Given the description of an element on the screen output the (x, y) to click on. 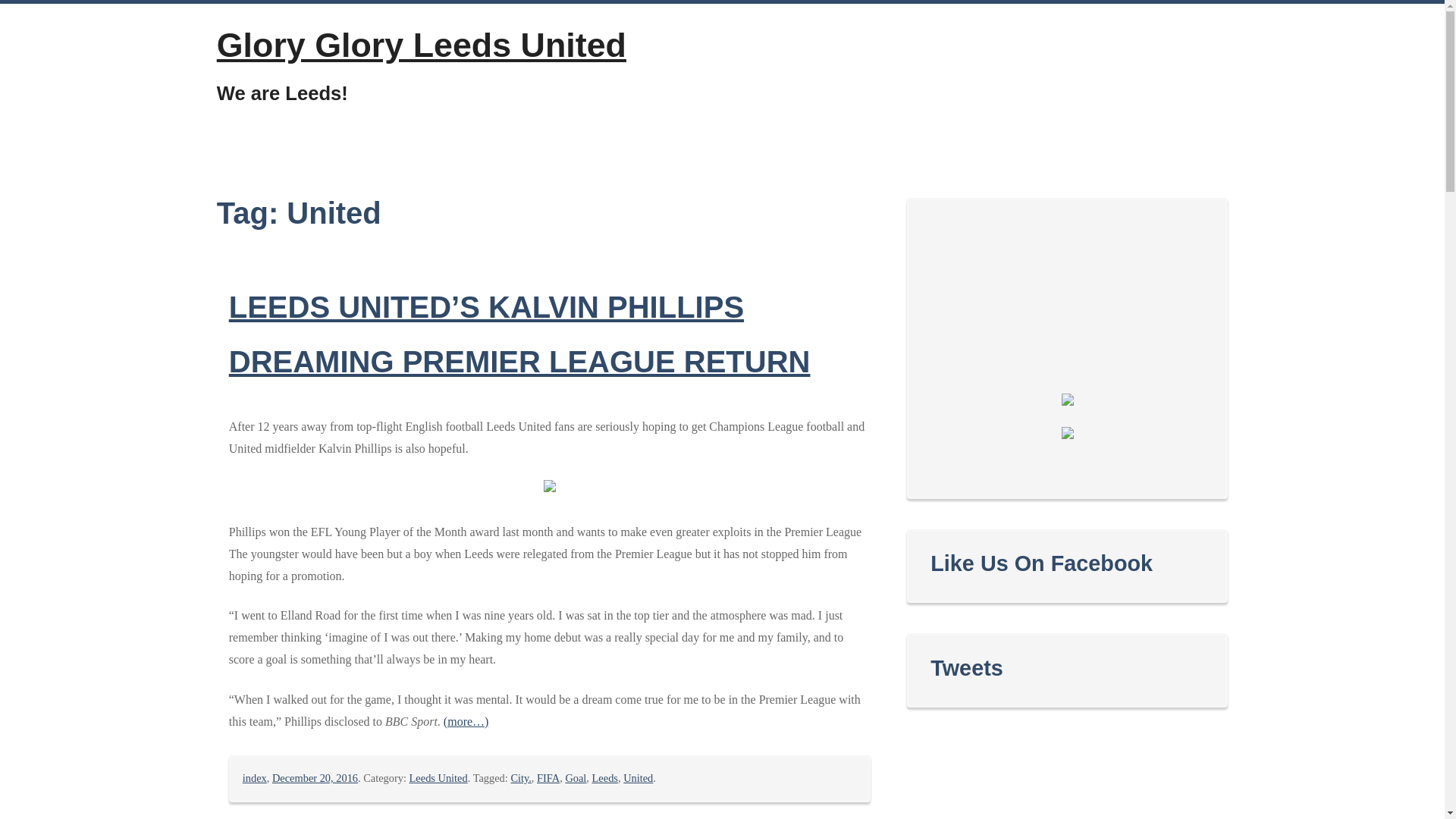
FIFA (548, 777)
View all posts by index (254, 777)
index (254, 777)
Leeds United (438, 777)
Leeds (604, 777)
City. (521, 777)
December 20, 2016 (315, 777)
Glory Glory Leeds United (421, 44)
Goal (575, 777)
United (637, 777)
